Given the description of an element on the screen output the (x, y) to click on. 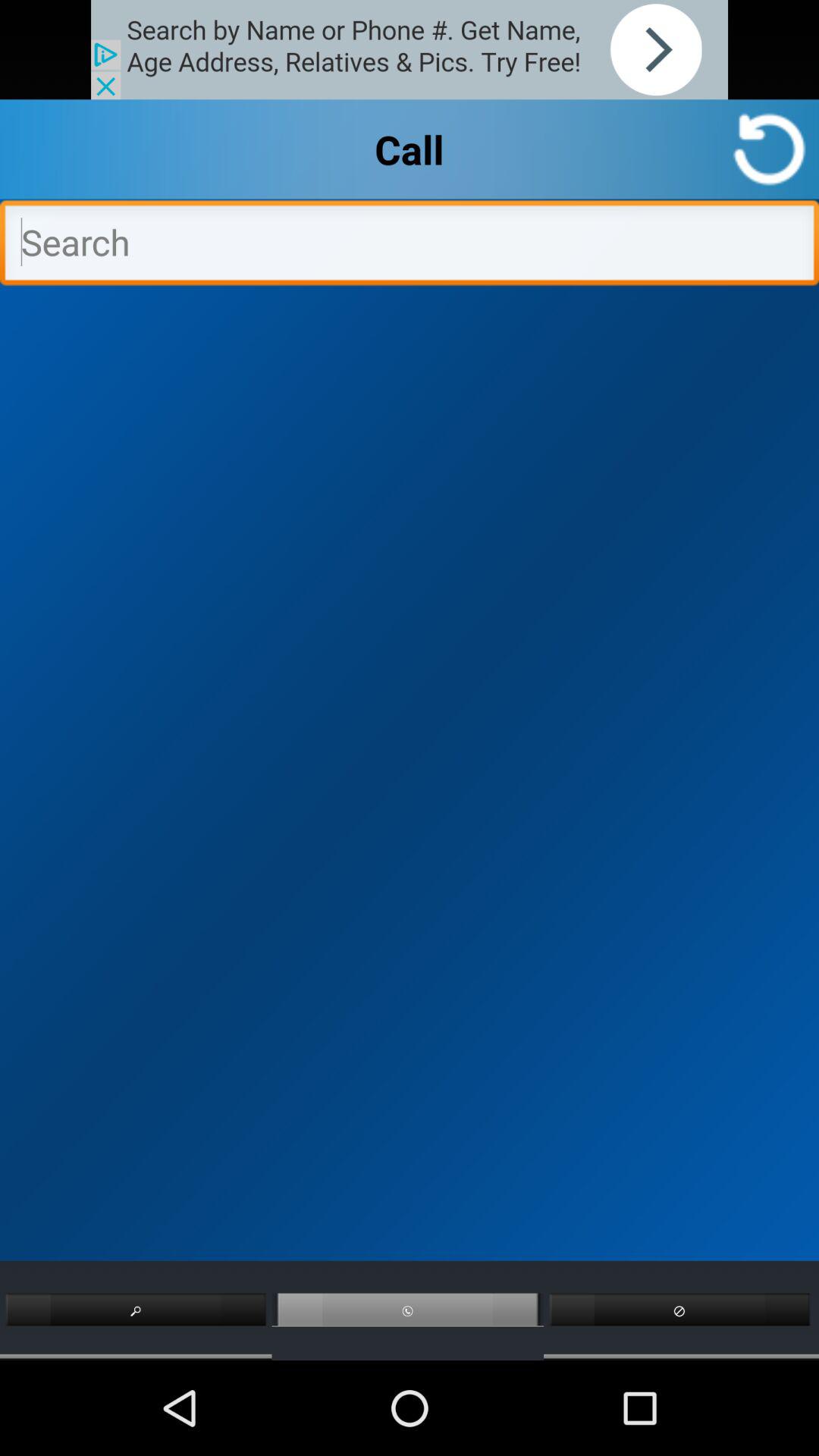
announcement (409, 49)
